Given the description of an element on the screen output the (x, y) to click on. 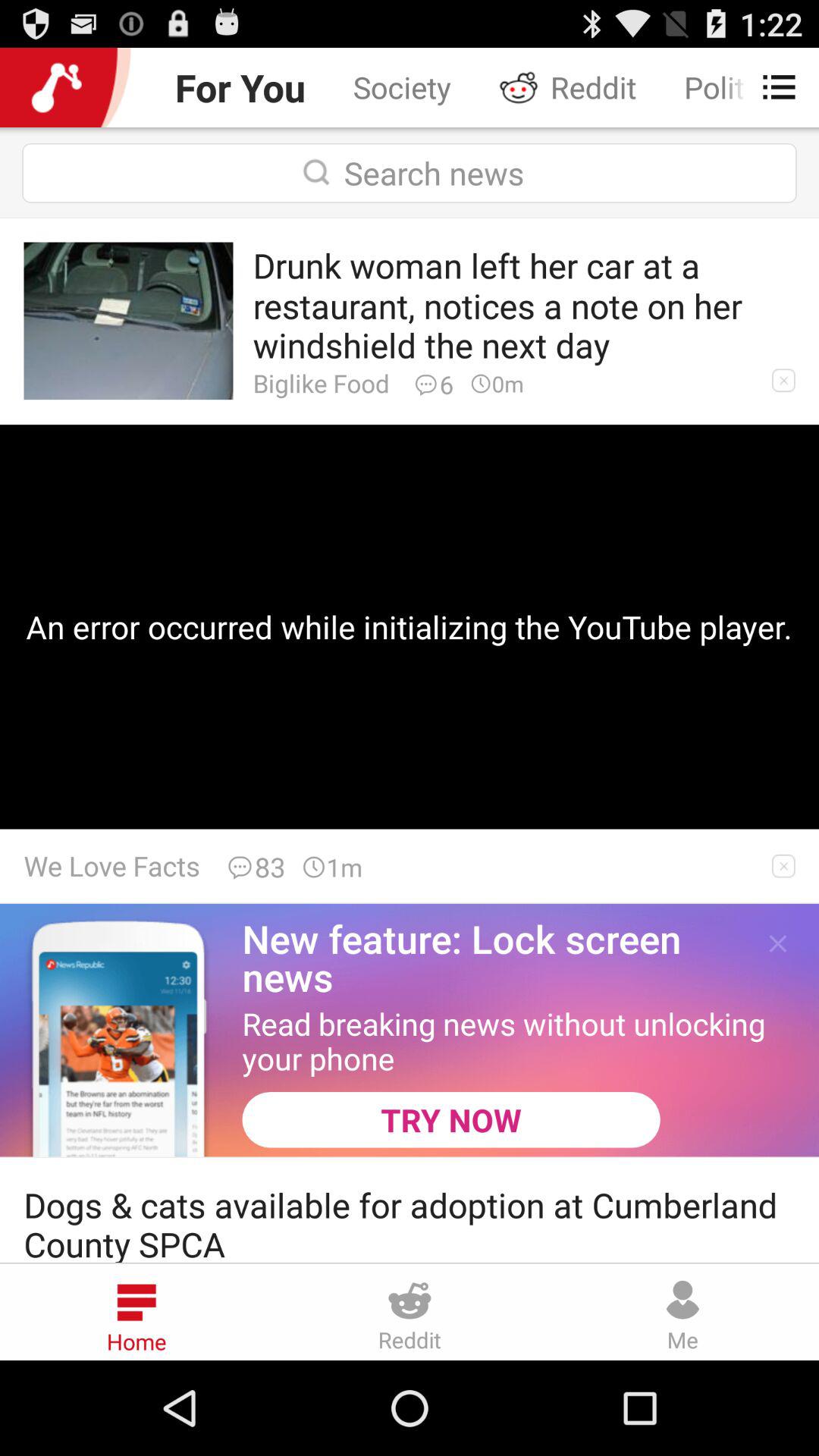
choose try now icon (451, 1119)
